Given the description of an element on the screen output the (x, y) to click on. 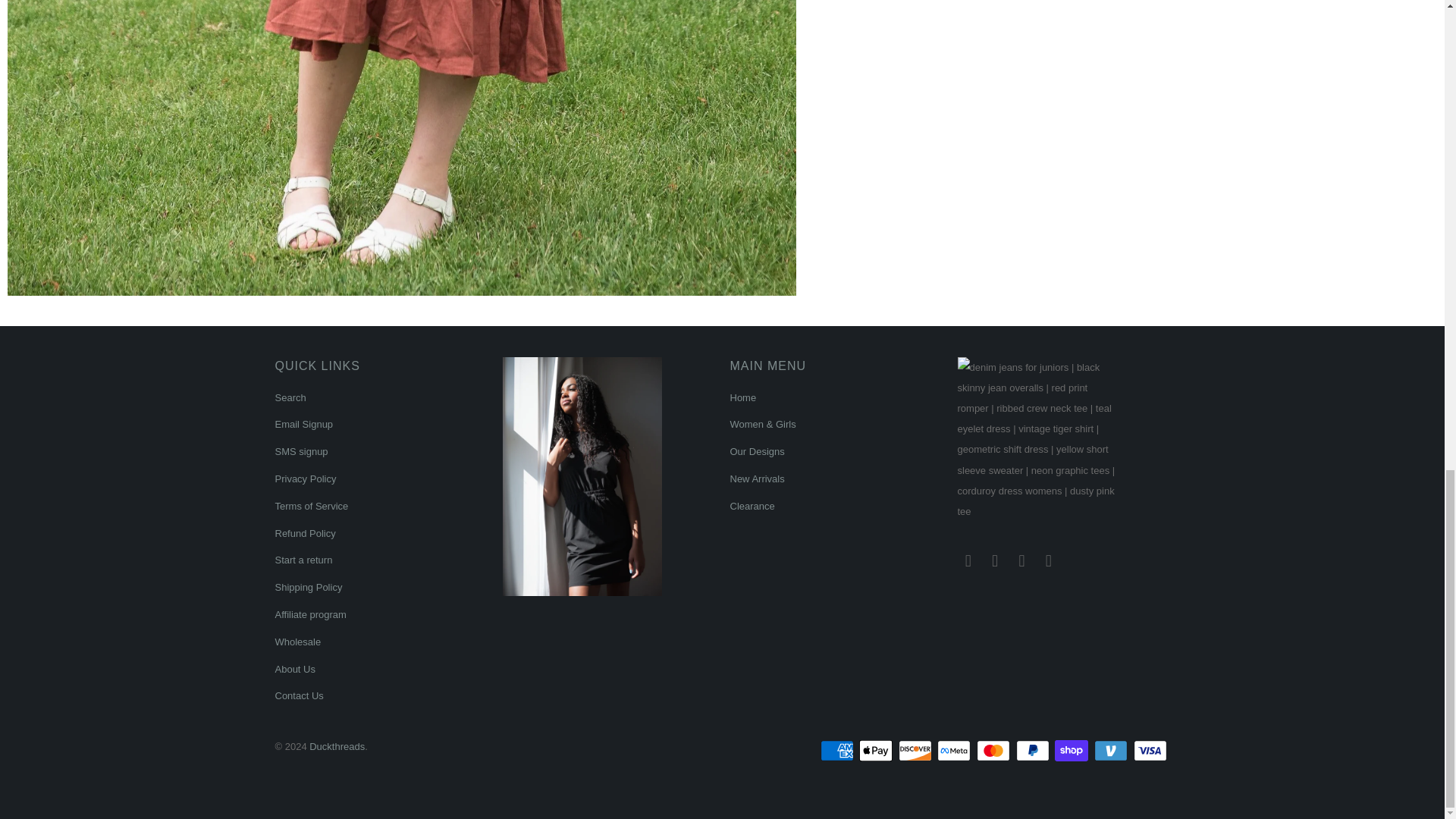
Discover (916, 750)
Duckthreads on Instagram (1021, 561)
Mastercard (994, 750)
Venmo (1112, 750)
Shop Pay (1072, 750)
Meta Pay (955, 750)
Visa (1150, 750)
PayPal (1034, 750)
Duckthreads on Facebook (967, 561)
Email Duckthreads (1047, 561)
American Express (839, 750)
Duckthreads on Pinterest (995, 561)
Apple Pay (877, 750)
